Given the description of an element on the screen output the (x, y) to click on. 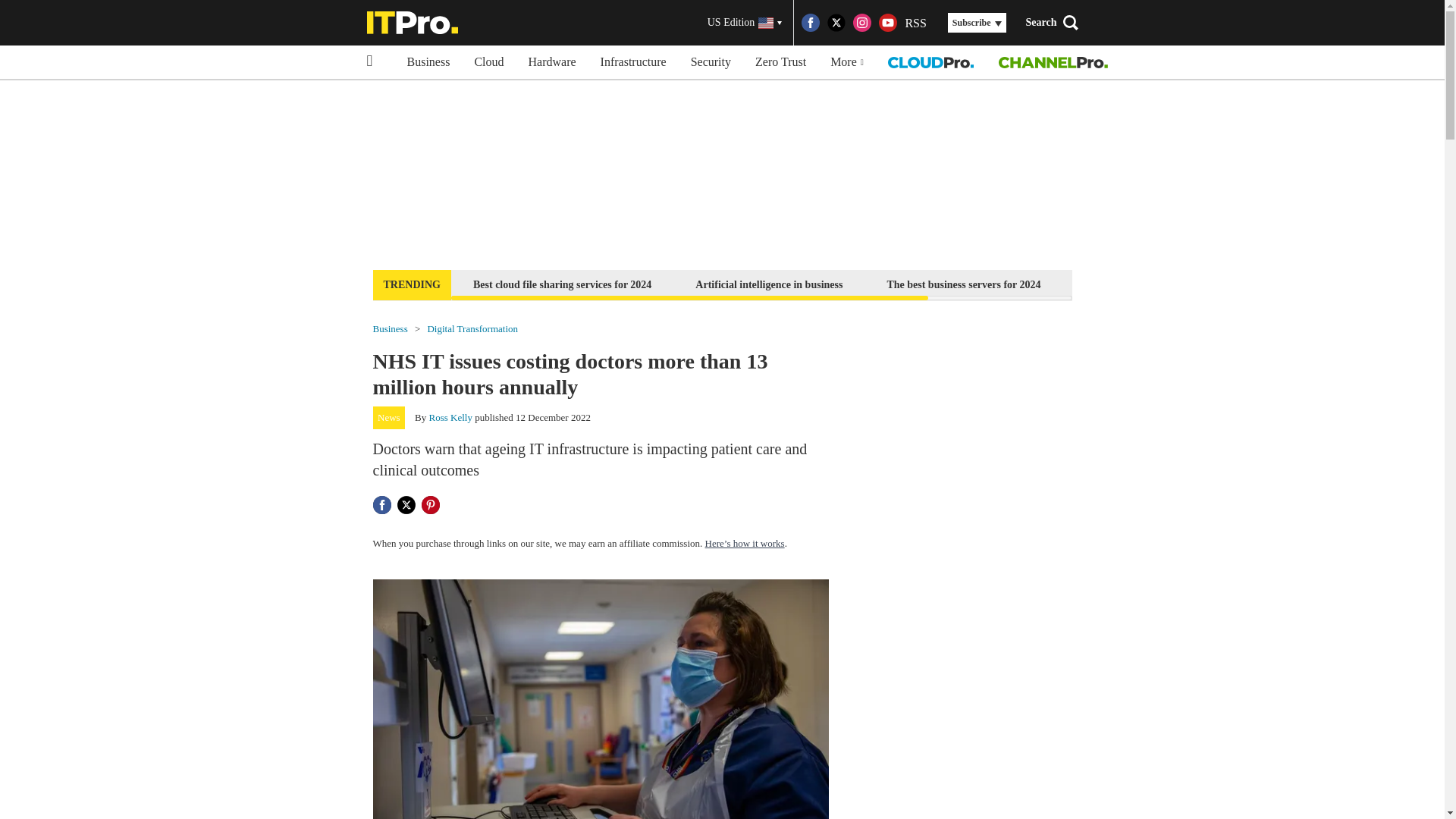
Best cloud file sharing services for 2024 (561, 284)
Business (427, 61)
Artificial intelligence in business (768, 284)
Cloud (488, 61)
Security (710, 61)
Hardware (552, 61)
The best business servers for 2024 (962, 284)
Digital Transformation (472, 327)
US Edition (745, 22)
News (389, 417)
